Given the description of an element on the screen output the (x, y) to click on. 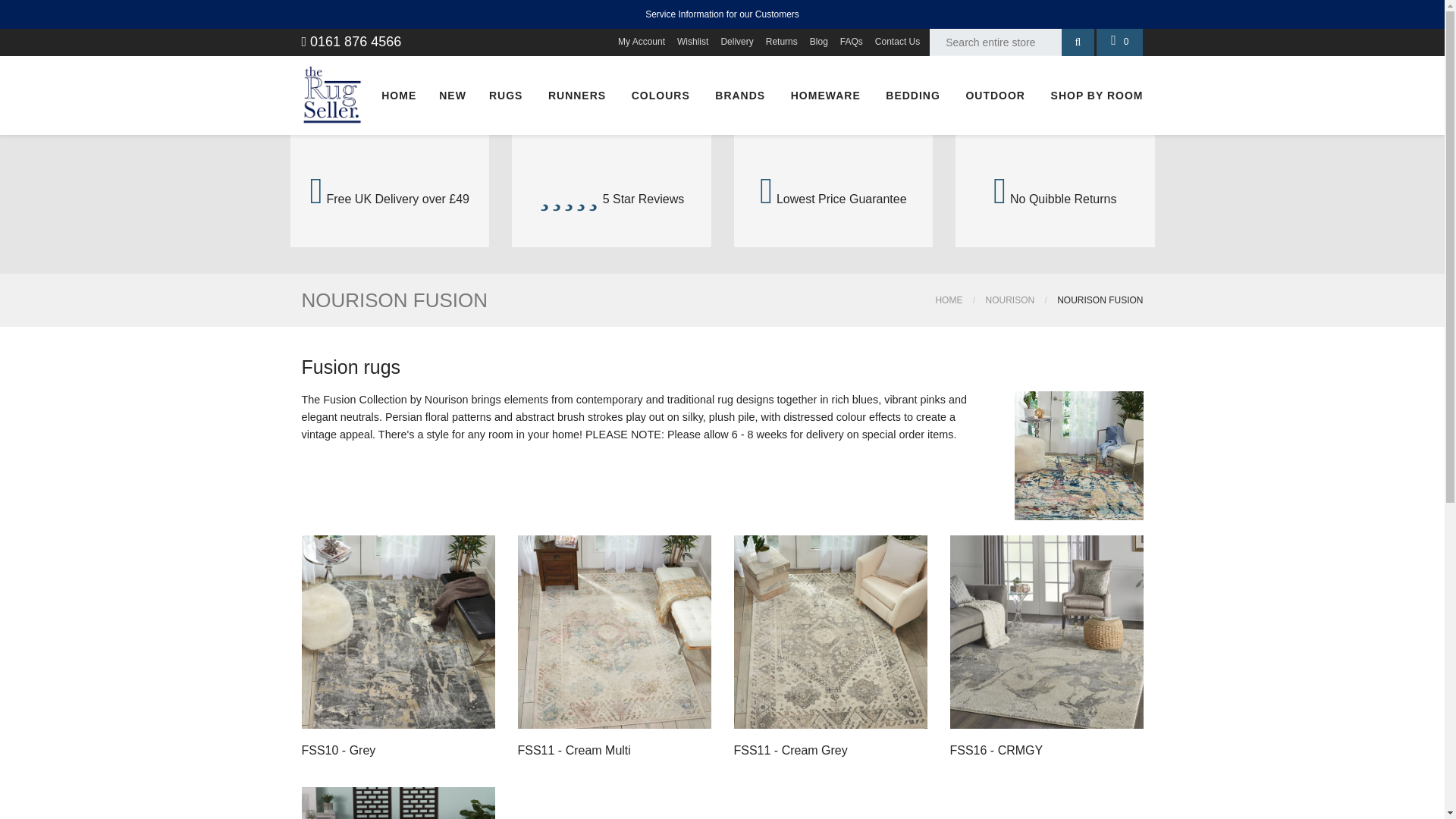
0161 876 4566 (351, 41)
Wishlist (692, 41)
My Account (640, 41)
Contact Us (896, 41)
Delivery (736, 41)
0 (1119, 42)
Returns (780, 41)
FAQs (851, 41)
Service Information for our Customers (722, 14)
